Given the description of an element on the screen output the (x, y) to click on. 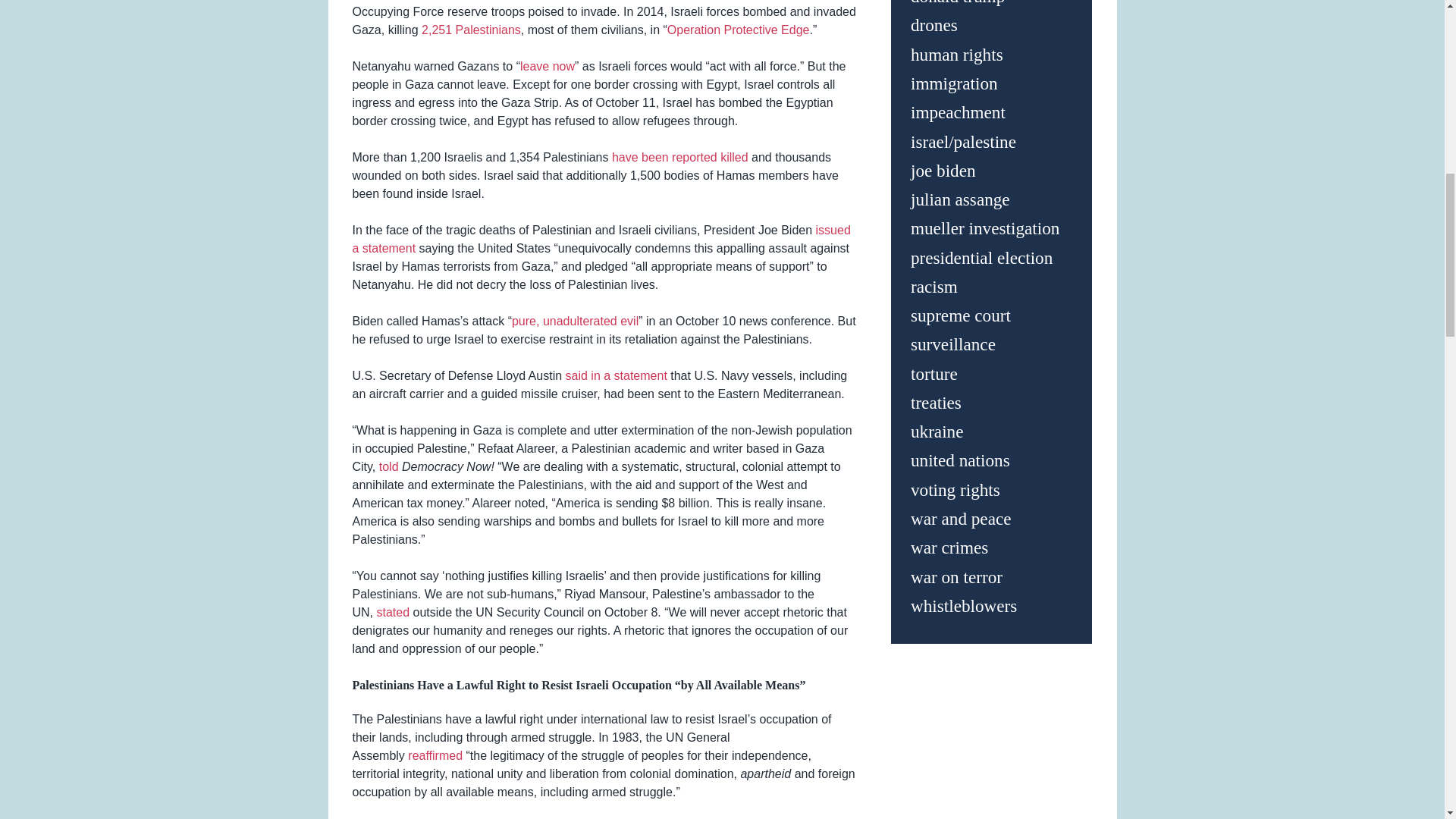
Operation Protective Edge (737, 29)
issued a statement (601, 238)
stated (392, 612)
leave now (547, 65)
told (388, 466)
2,251 Palestinians (471, 29)
have been reported killed (679, 156)
said in a statement (616, 375)
pure, unadulterated evil (575, 320)
